Given the description of an element on the screen output the (x, y) to click on. 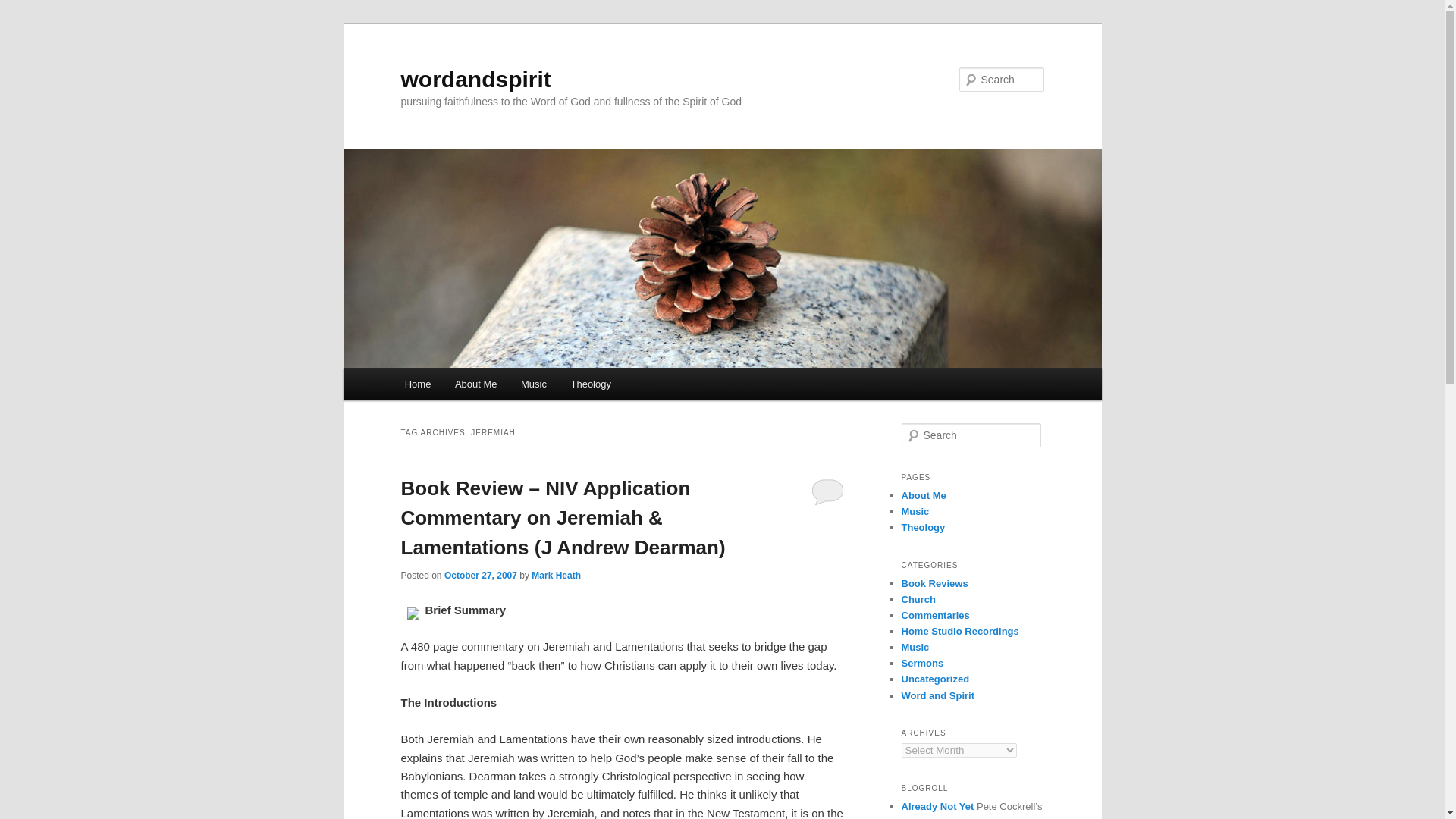
About Me (922, 495)
Word and Spirit (937, 695)
Commentaries (935, 614)
Book Reviews (934, 583)
Theology (591, 383)
Music (914, 646)
Uncategorized (935, 678)
Theology (922, 527)
Music (914, 511)
wordandspirit (475, 78)
